Given the description of an element on the screen output the (x, y) to click on. 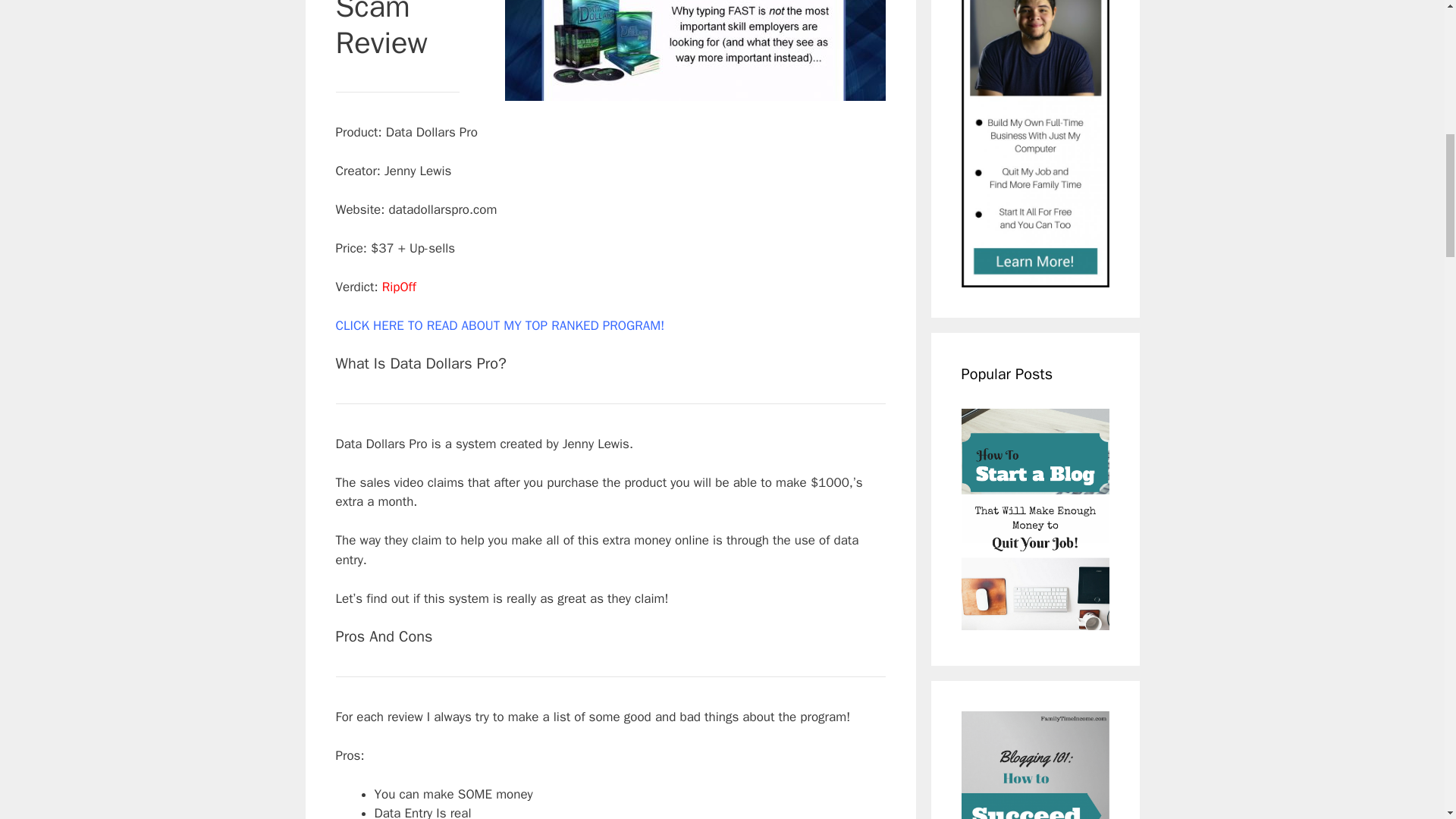
CLICK HERE TO READ ABOUT MY TOP RANKED PROGRAM! (498, 325)
